Given the description of an element on the screen output the (x, y) to click on. 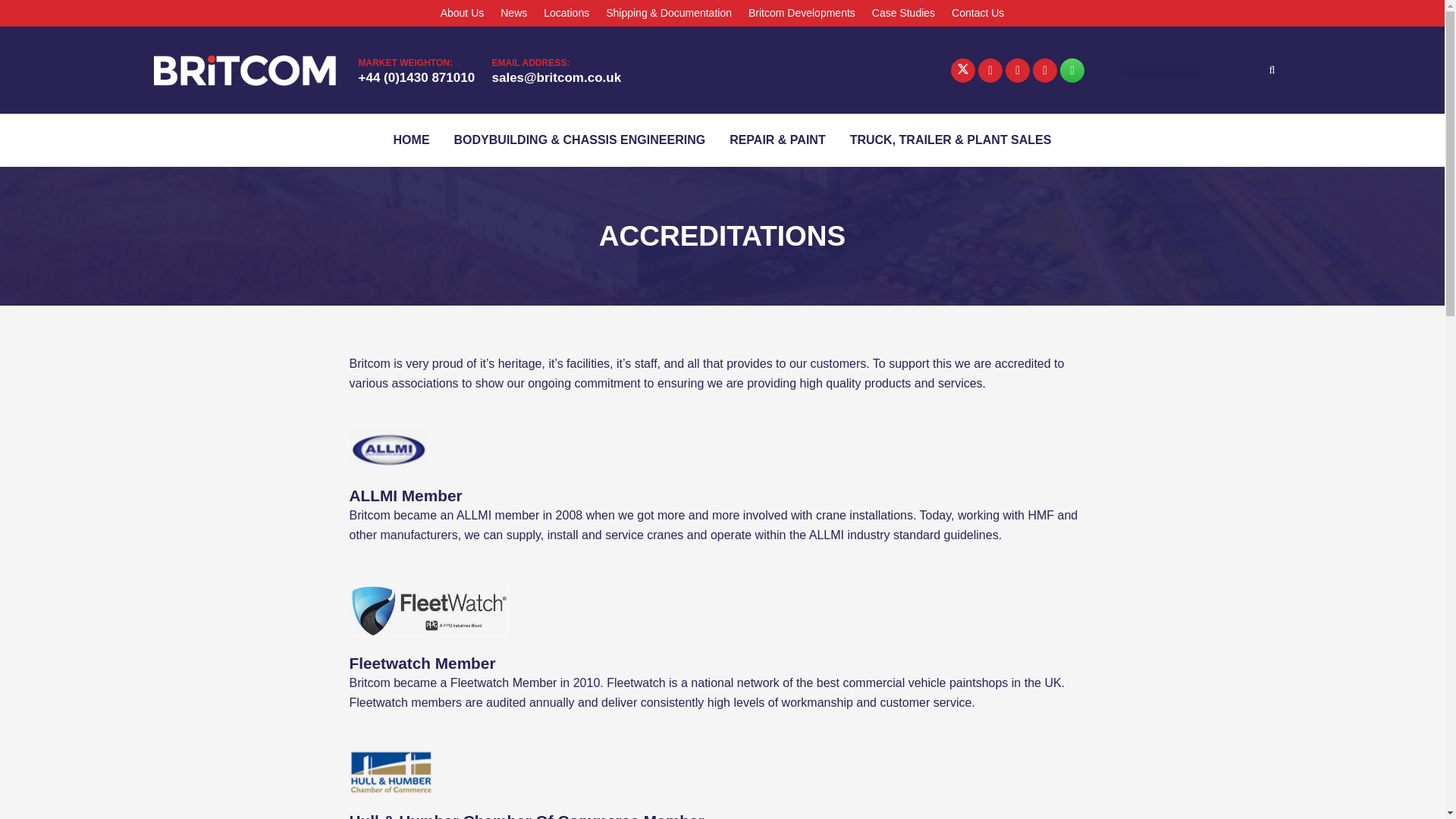
Twitter (962, 69)
News (513, 13)
Case Studies (903, 13)
HOME (411, 139)
WhatsApp (1071, 69)
Contact Us (977, 13)
YouTube (1044, 69)
Locations (565, 13)
Facebook (990, 69)
Britcom Developments (801, 13)
